Given the description of an element on the screen output the (x, y) to click on. 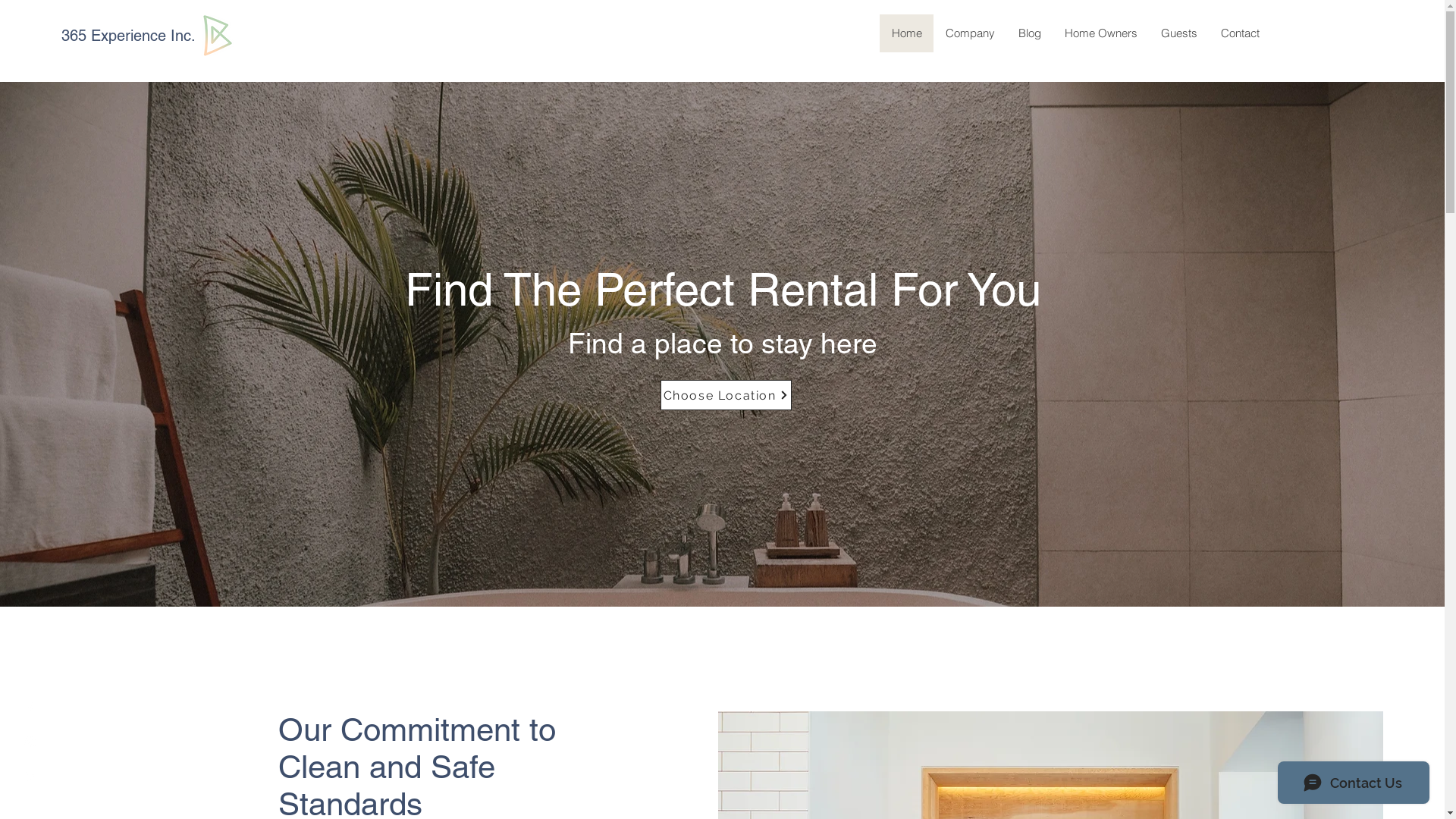
Blog Element type: text (1029, 33)
365 Experience Inc. Element type: text (128, 35)
Contact Element type: text (1239, 33)
Home Owners Element type: text (1100, 33)
Home Element type: text (906, 33)
Choose Location Element type: text (724, 394)
Guests Element type: text (1178, 33)
